Given the description of an element on the screen output the (x, y) to click on. 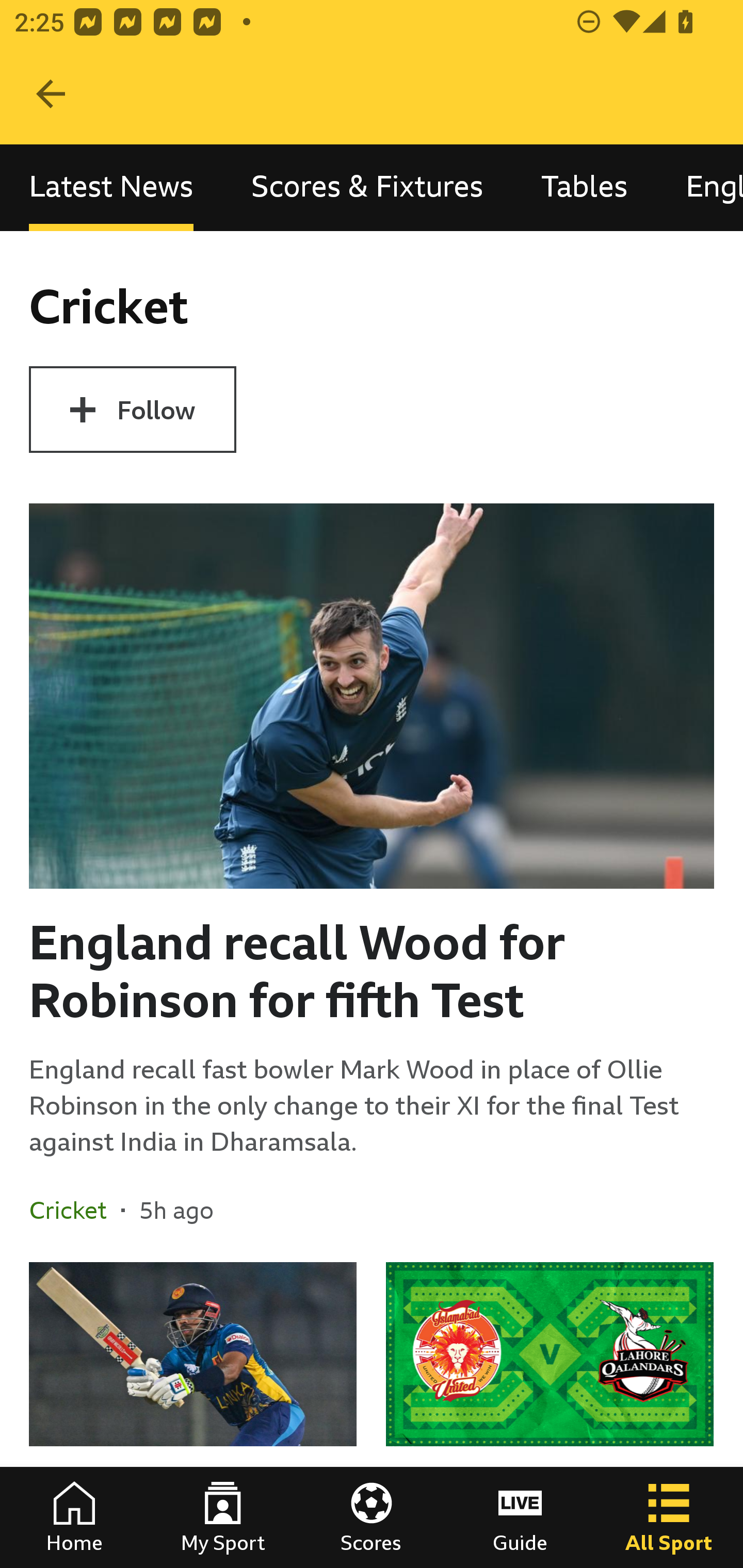
Navigate up (50, 93)
Latest News, selected Latest News (111, 187)
Scores & Fixtures (367, 187)
Tables (584, 187)
England Men (699, 187)
Follow Cricket Follow (132, 409)
Cricket In the section Cricket (74, 1209)
Bangladesh v Sri Lanka - second T20 scorecard (192, 1415)
Home (74, 1517)
My Sport (222, 1517)
Scores (371, 1517)
Guide (519, 1517)
